Given the description of an element on the screen output the (x, y) to click on. 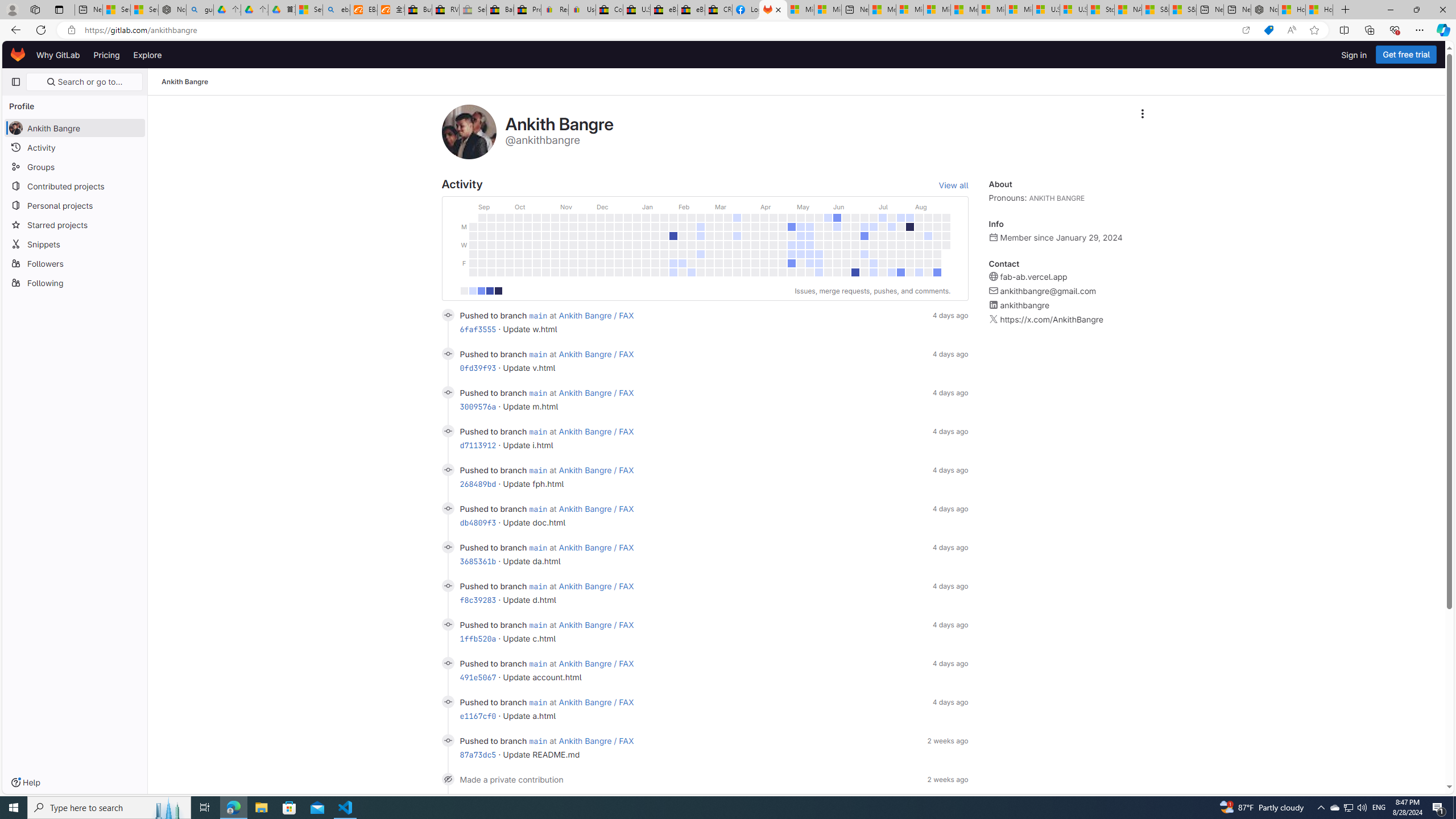
Microsoft account | Privacy (909, 9)
Microsoft account | Home (936, 9)
eBay Inc. Reports Third Quarter 2023 Results (691, 9)
